Given the description of an element on the screen output the (x, y) to click on. 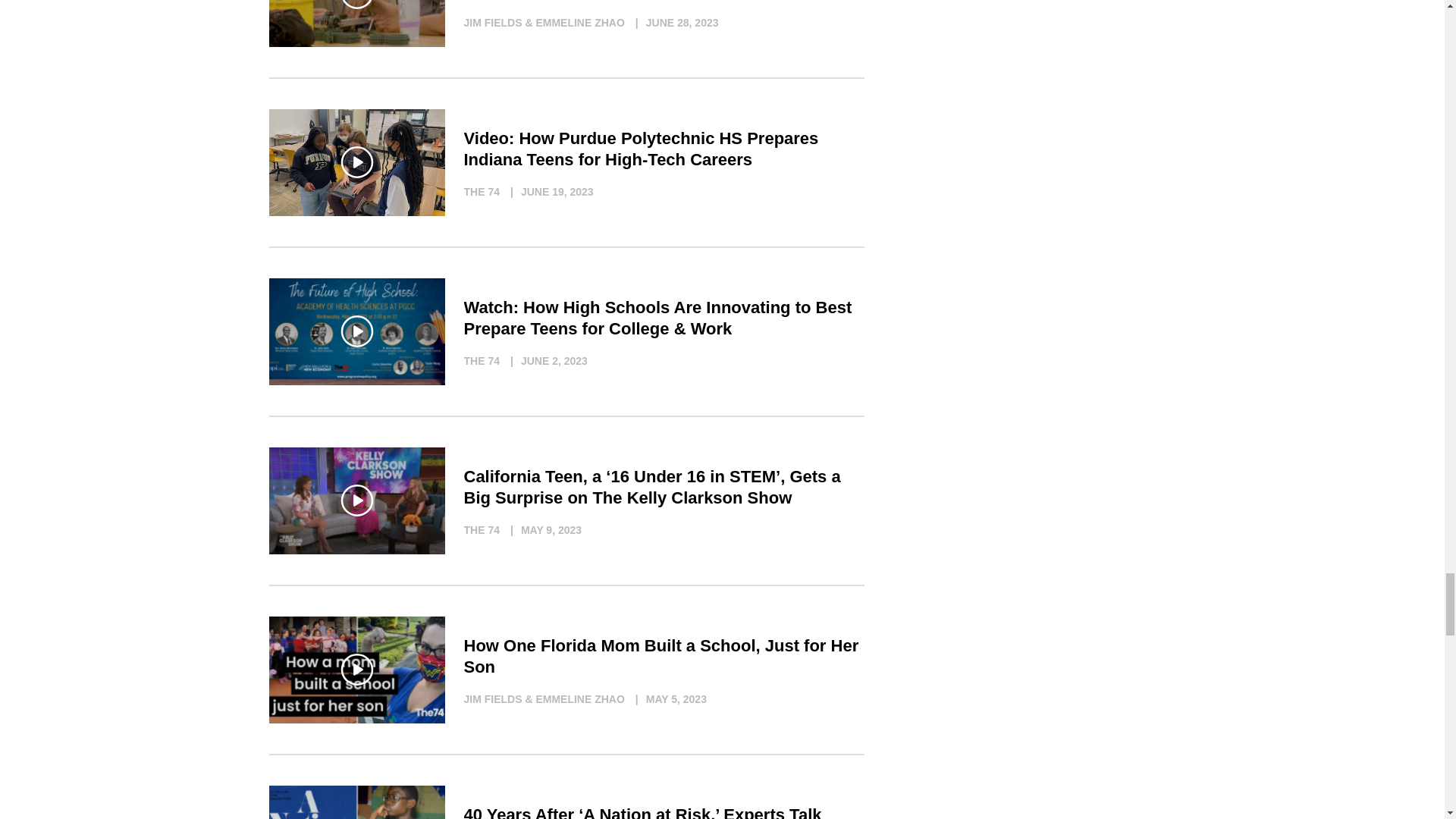
May 5, 2023 (666, 699)
June 19, 2023 (548, 191)
June 28, 2023 (673, 22)
May 9, 2023 (541, 529)
June 2, 2023 (545, 360)
